Given the description of an element on the screen output the (x, y) to click on. 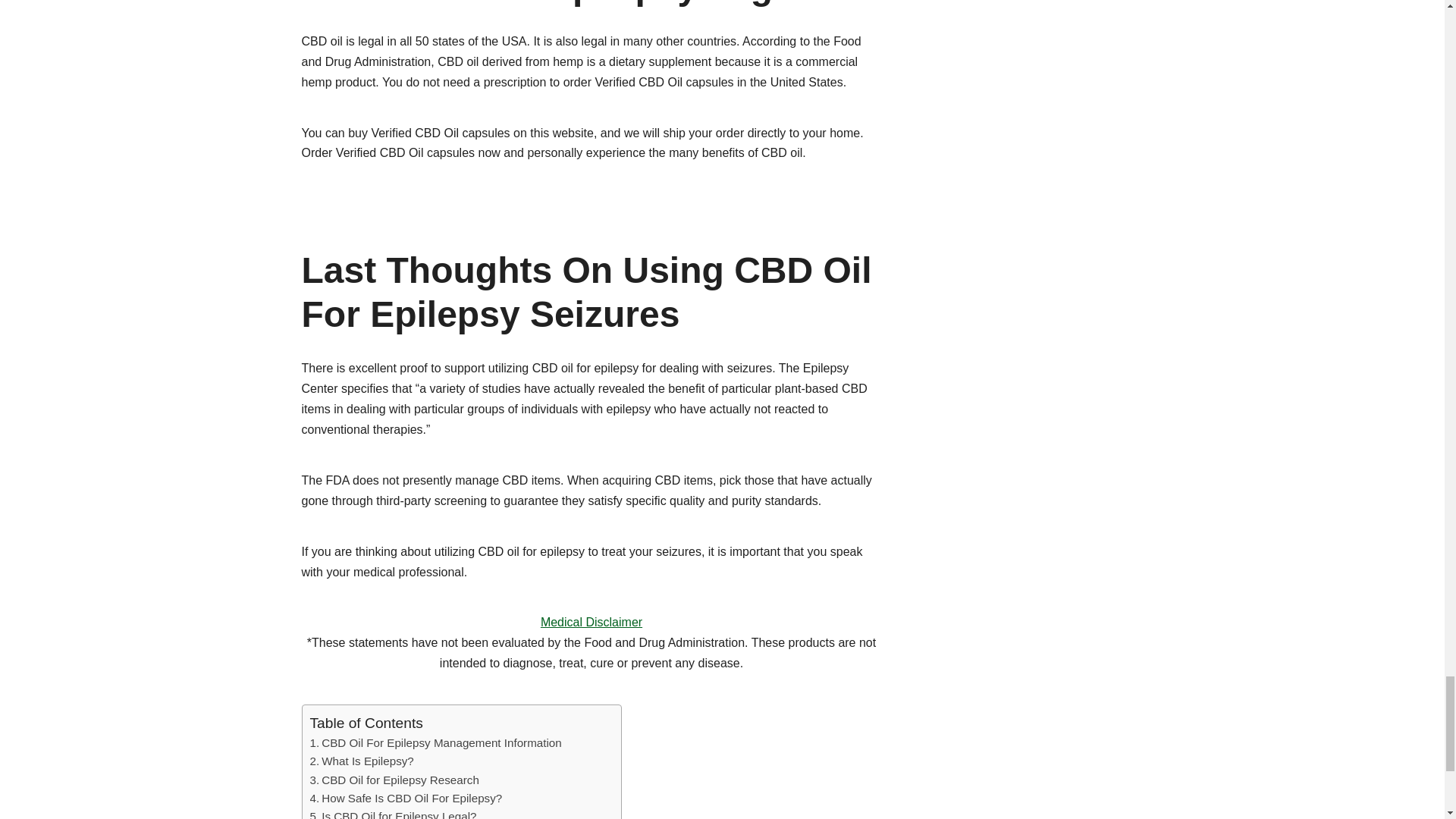
CBD Oil For Epilepsy Management Information (434, 742)
CBD Oil for Epilepsy Research (393, 780)
How Safe Is CBD Oil For Epilepsy? (405, 798)
What Is Epilepsy? (360, 761)
Is CBD Oil for Epilepsy Legal? (392, 813)
